Given the description of an element on the screen output the (x, y) to click on. 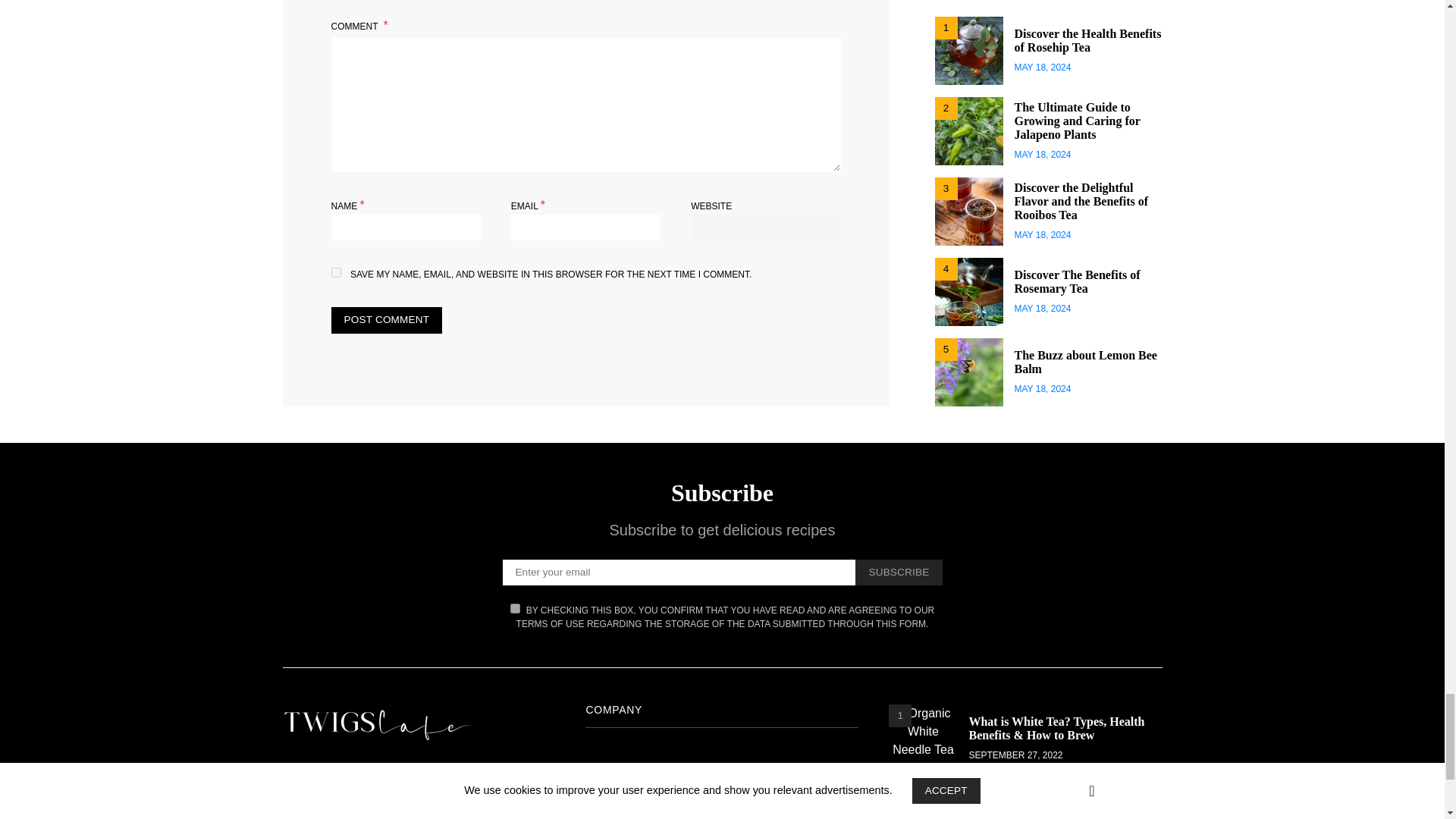
Post Comment (386, 319)
yes (335, 272)
on (515, 608)
